Given the description of an element on the screen output the (x, y) to click on. 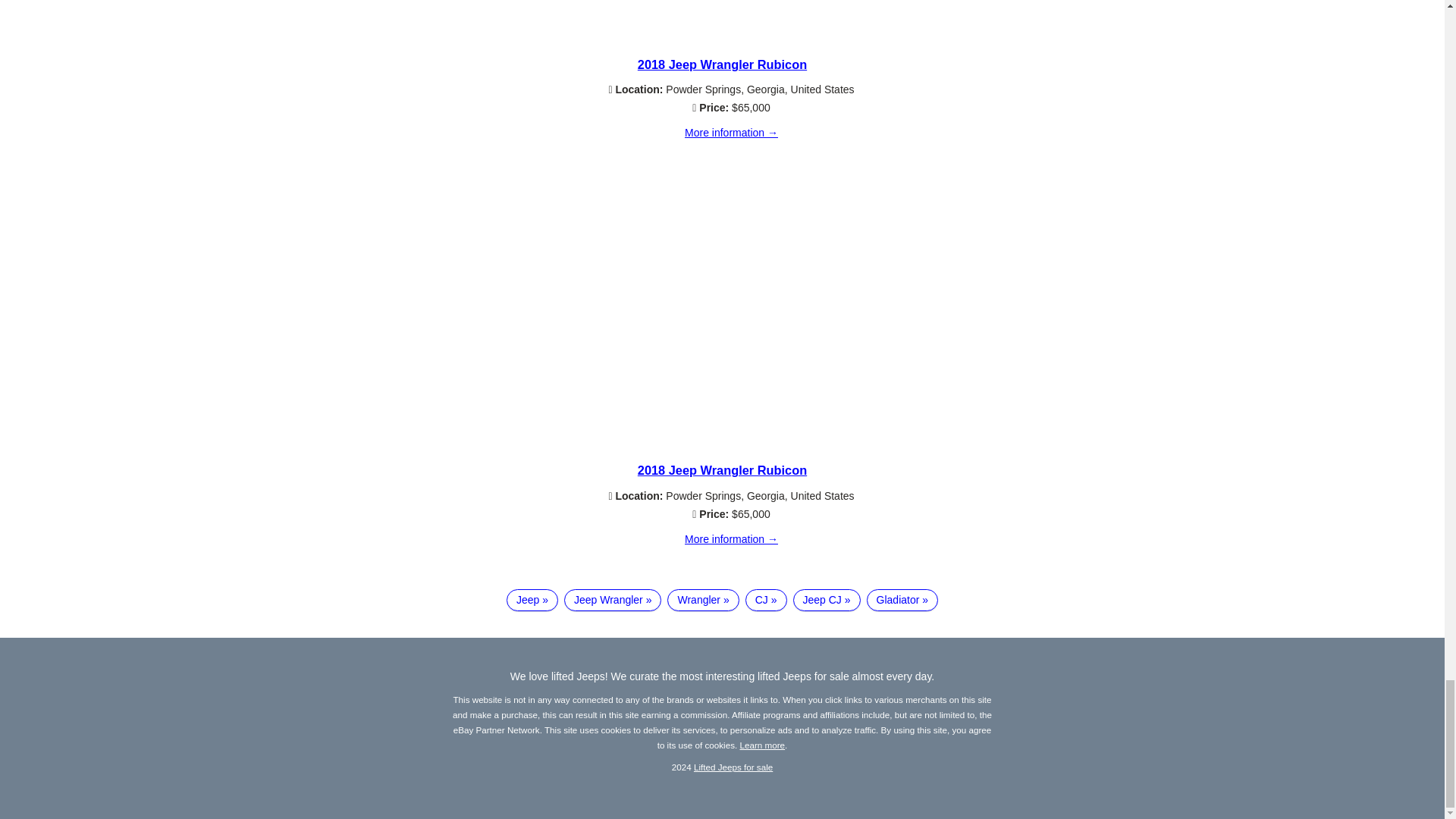
Gladiator (902, 599)
Jeep CJ (826, 599)
Lifted Jeeps for sale (733, 767)
Jeep Wrangler (612, 599)
2018 Jeep Wrangler Rubicon (721, 64)
CJ (766, 599)
Learn more (762, 745)
2018 Jeep Wrangler Rubicon for sale (722, 44)
Jeep (531, 599)
2018 Jeep Wrangler Rubicon (721, 469)
Wrangler (702, 599)
2018 Jeep Wrangler Rubicon for sale (722, 451)
2018 Jeep Wrangler Rubicon for sale (731, 133)
2018 Jeep Wrangler Rubicon for sale (731, 539)
